Given the description of an element on the screen output the (x, y) to click on. 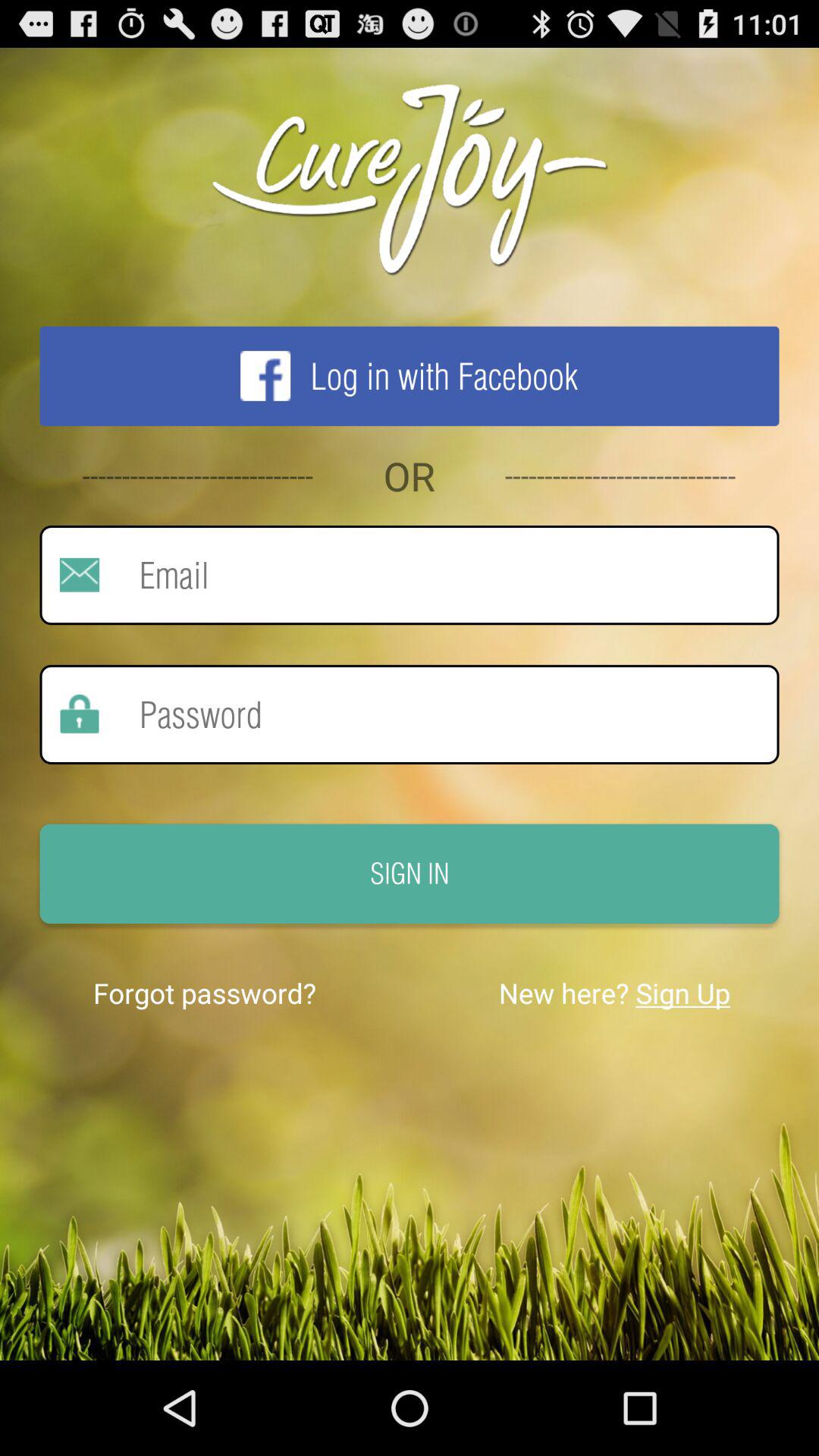
enter email here (439, 575)
